Given the description of an element on the screen output the (x, y) to click on. 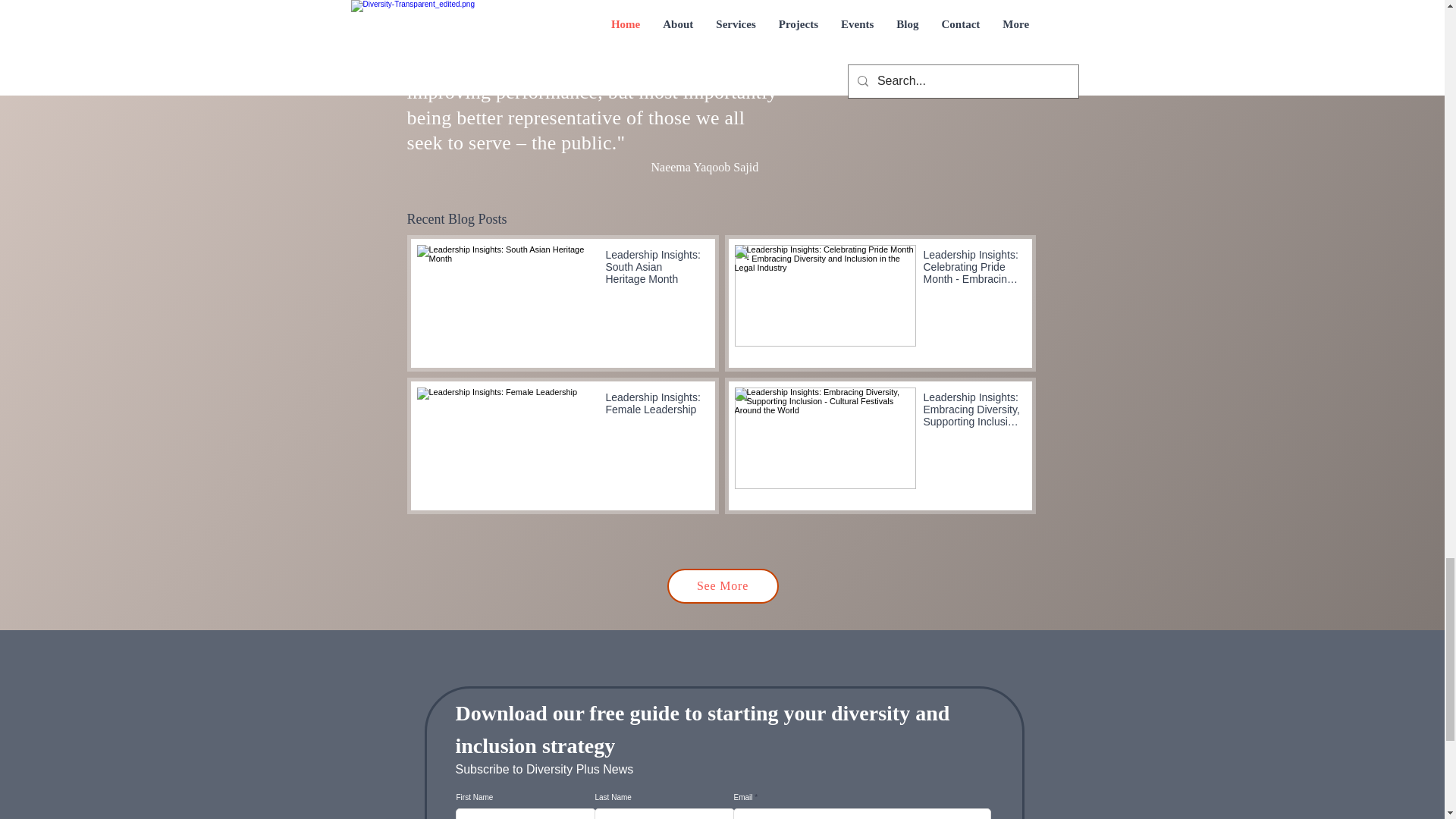
Leadership Insights: South Asian Heritage Month (654, 269)
See More (722, 585)
Leadership Insights: Female Leadership (654, 406)
